Given the description of an element on the screen output the (x, y) to click on. 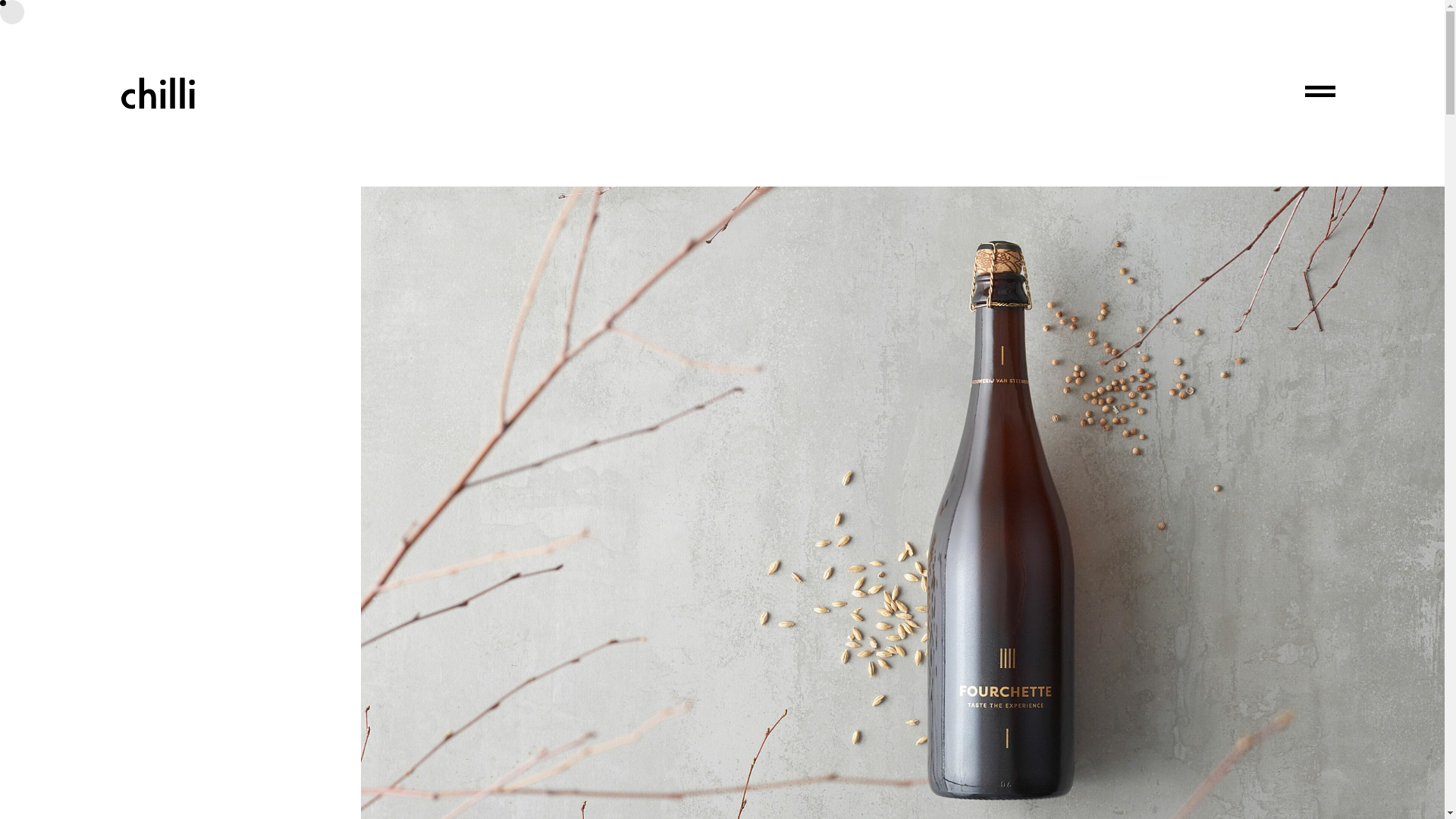
Menu Element type: hover (1319, 92)
